Given the description of an element on the screen output the (x, y) to click on. 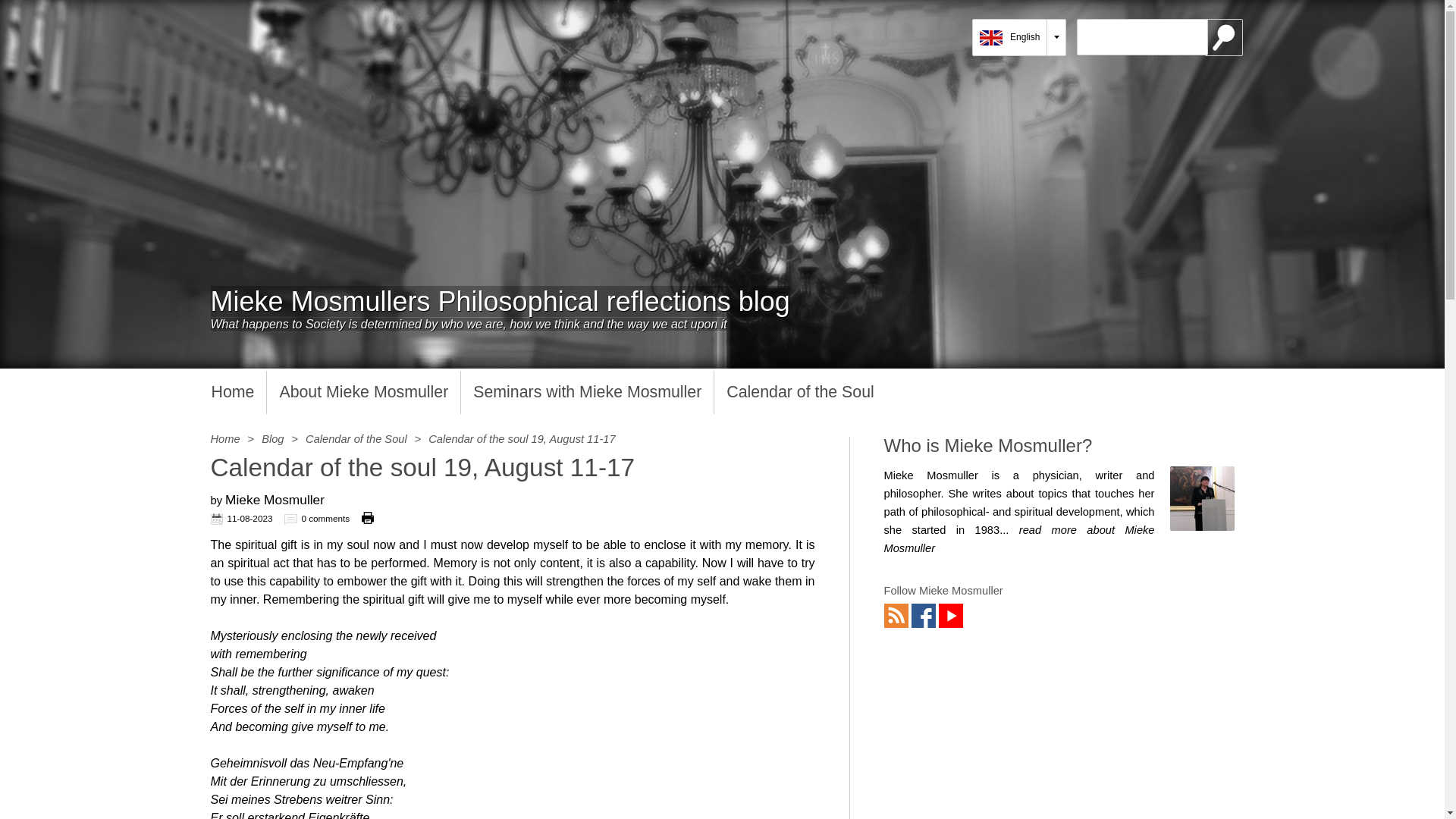
Calendar of the Soul  (799, 392)
Calendar of the soul 19, August 11-17 (521, 439)
Home (225, 439)
Calendar of the Soul (356, 439)
read more about Mieke Mosmuller (1018, 539)
Seminars with Mieke Mosmuller  (587, 392)
Calendar of the Soul (799, 392)
Calendar of the Soul (356, 439)
read more about Mieke Mosmuller (1018, 539)
Blog (272, 439)
Home  (232, 392)
Seminars with Mieke Mosmuller (587, 392)
Calendar of the soul 19, August 11-17 (521, 439)
Mieke Mosmuller (1201, 498)
About Mieke Mosmuller  (363, 392)
